Given the description of an element on the screen output the (x, y) to click on. 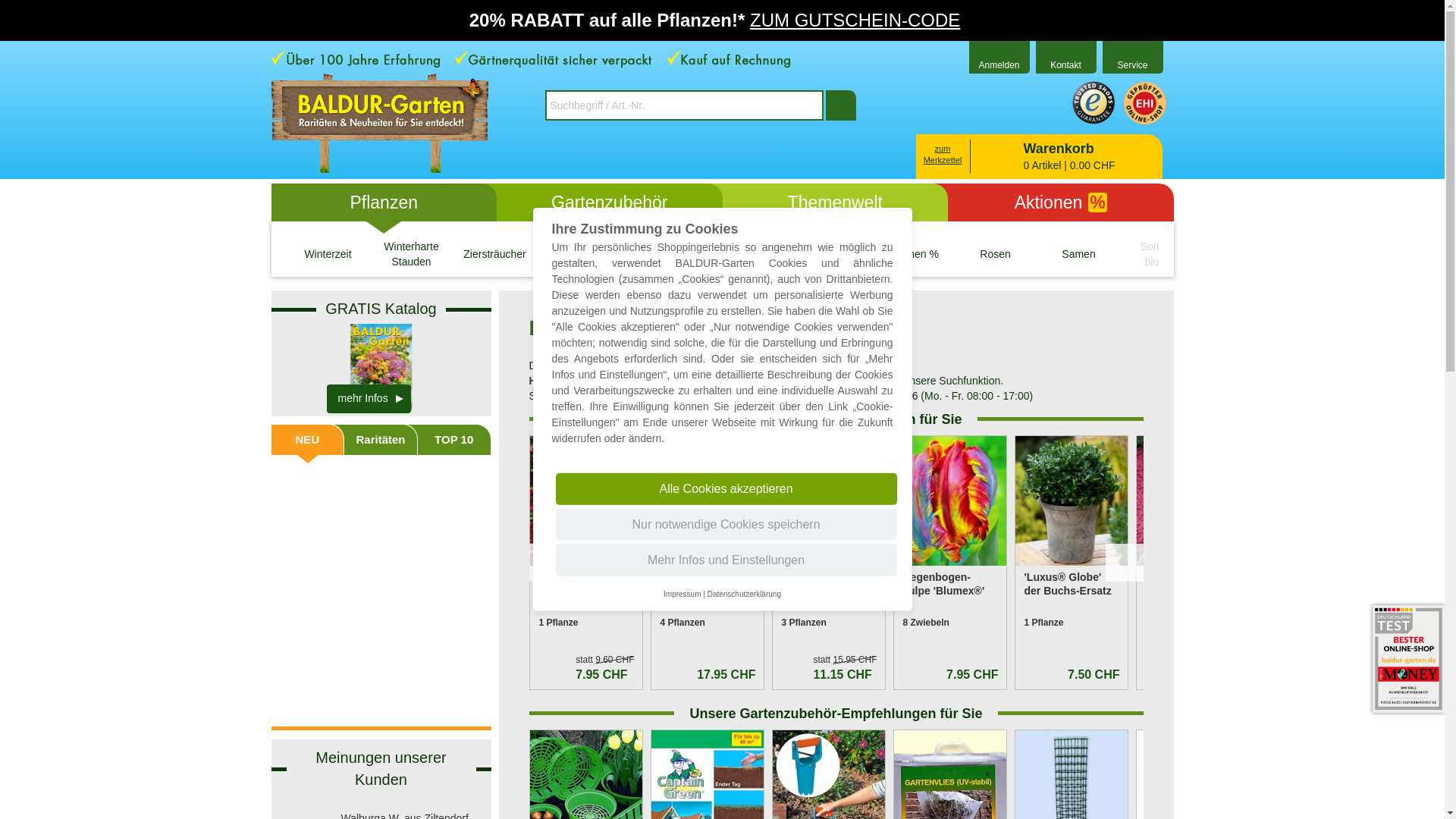
Winterzeit Element type: text (328, 254)
Deutschland TEST - Bester Online-Shop Element type: hover (1408, 658)
Samen Element type: text (1078, 254)
Phlox-Mix 'Flowers of the Sea' Element type: hover (706, 500)
Bodendecker-Thymian Element type: hover (1191, 500)
mehr Infos Element type: text (368, 398)
Aktionen% Element type: text (1060, 202)
Alle Cookies akzeptieren Element type: text (725, 489)
Trusted Shop Guarantee Element type: hover (1093, 102)
TOP 10 Element type: text (453, 439)
Themenwelt Element type: text (834, 202)
Service Element type: text (1131, 59)
Photinia-Hecke 'Red Robin' Element type: hover (585, 500)
Warenkorb
0 Artikel | 0.00 CHF Element type: text (1038, 155)
NEU Element type: text (307, 439)
Blumenzwiebeln Element type: text (745, 254)
Zimmerpflanzen Element type: text (828, 254)
Hecken- pflanzen Element type: text (578, 254)
Anmelden Element type: text (998, 59)
Kontakt Element type: text (1065, 59)
Impressum Element type: text (681, 594)
Mehr Infos und Einstellungen Element type: text (725, 560)
ZUM GUTSCHEIN-CODE Element type: text (854, 20)
  Element type: text (840, 105)
Rosen Element type: text (995, 254)
Winterharte Stauden Element type: text (411, 254)
zum Merkzettel Element type: text (941, 154)
Sommer- blumen Element type: text (1162, 254)
Obst Element type: text (661, 254)
Pflanzen Element type: text (384, 202)
Nur notwendige Cookies speichern Element type: text (725, 524)
 Phlox-Mix 'Flowers of the Sea'
4 Pflanzen
17.95 CHF Element type: text (706, 562)
Aktionen % Element type: text (911, 254)
